Given the description of an element on the screen output the (x, y) to click on. 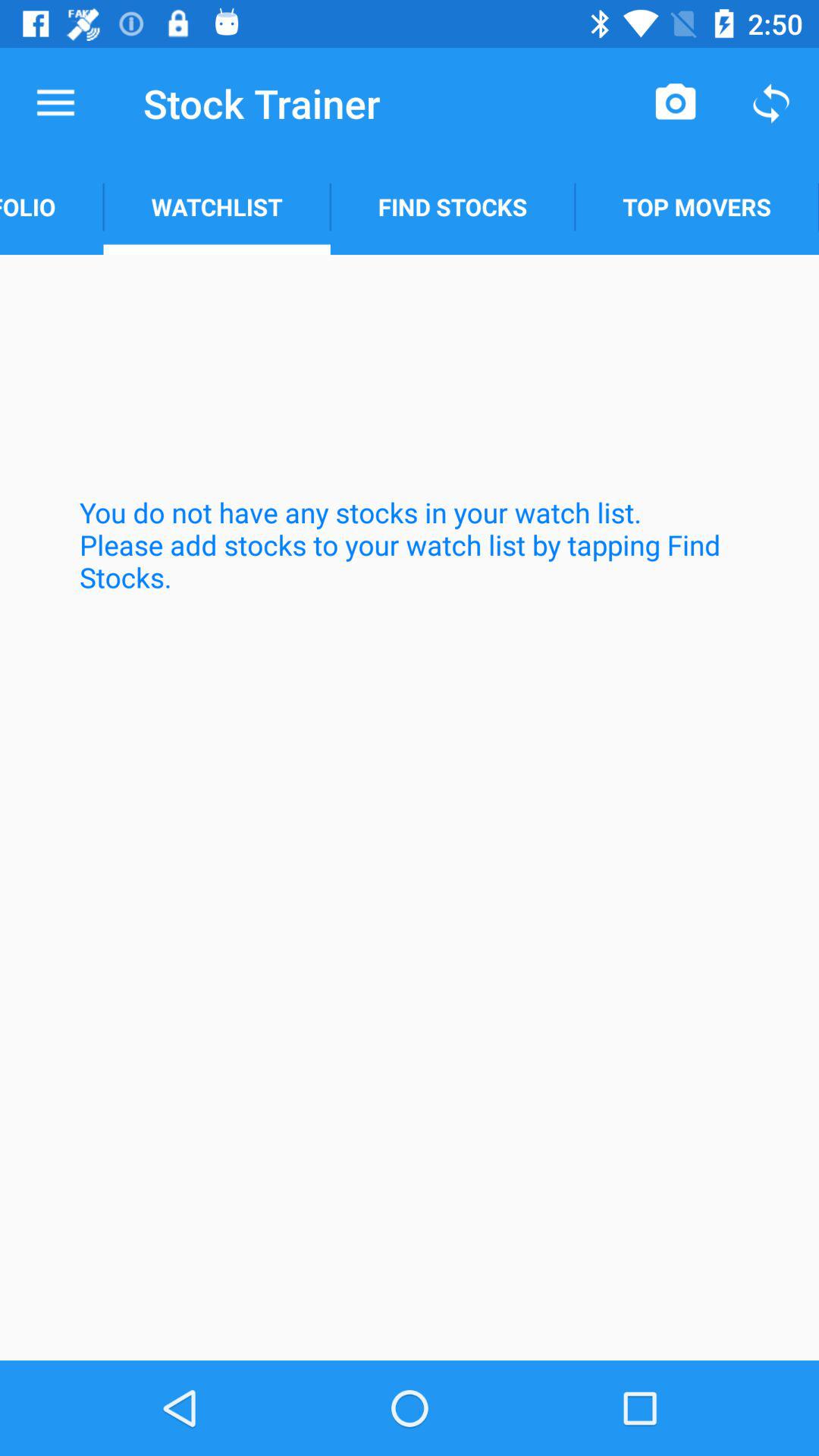
jump until the portfolio app (51, 206)
